Given the description of an element on the screen output the (x, y) to click on. 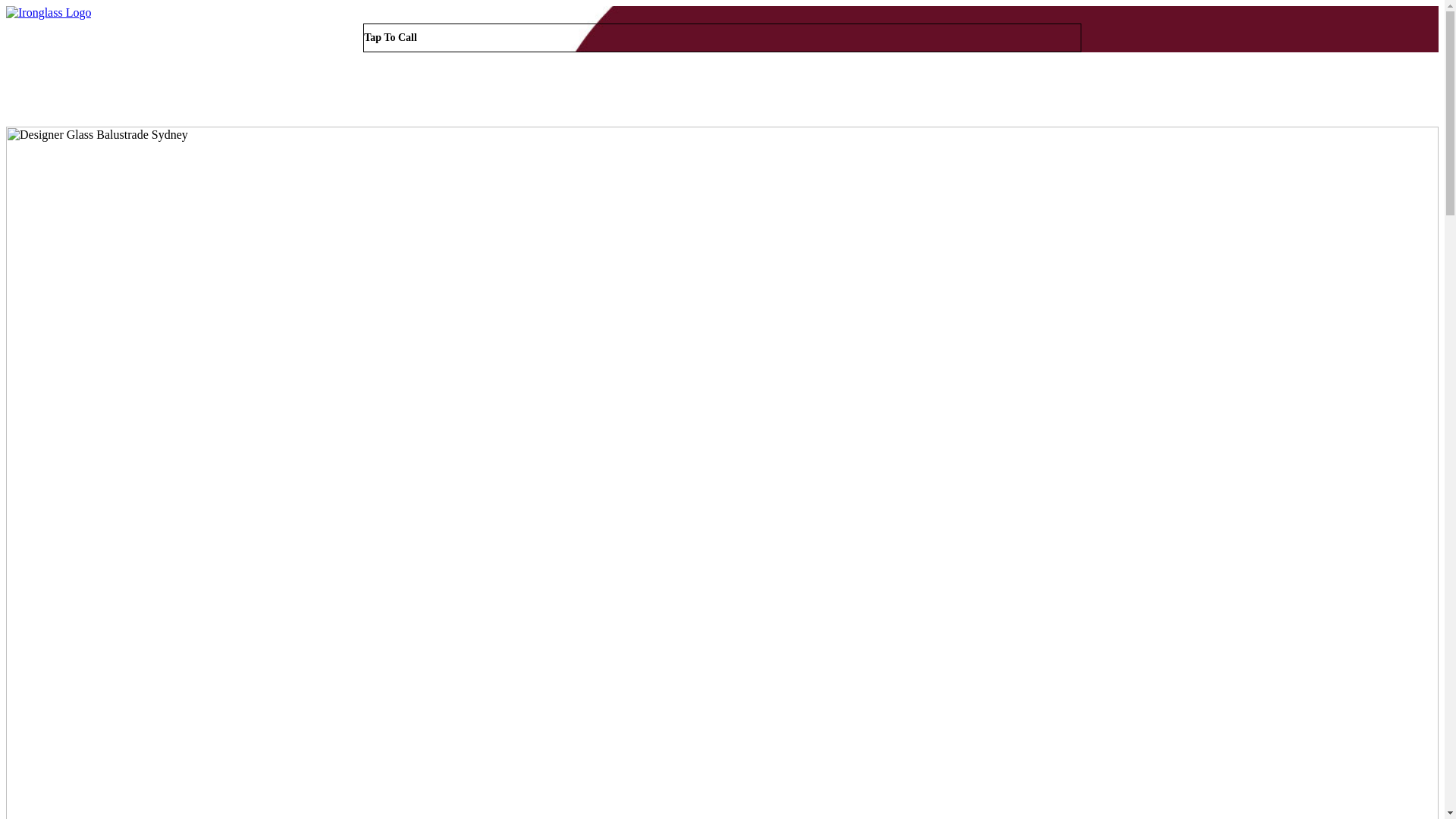
Contact Element type: text (1393, 91)
Tap To Call Element type: text (722, 37)
Home Element type: text (1140, 91)
Blog Element type: text (1312, 91)
